Given the description of an element on the screen output the (x, y) to click on. 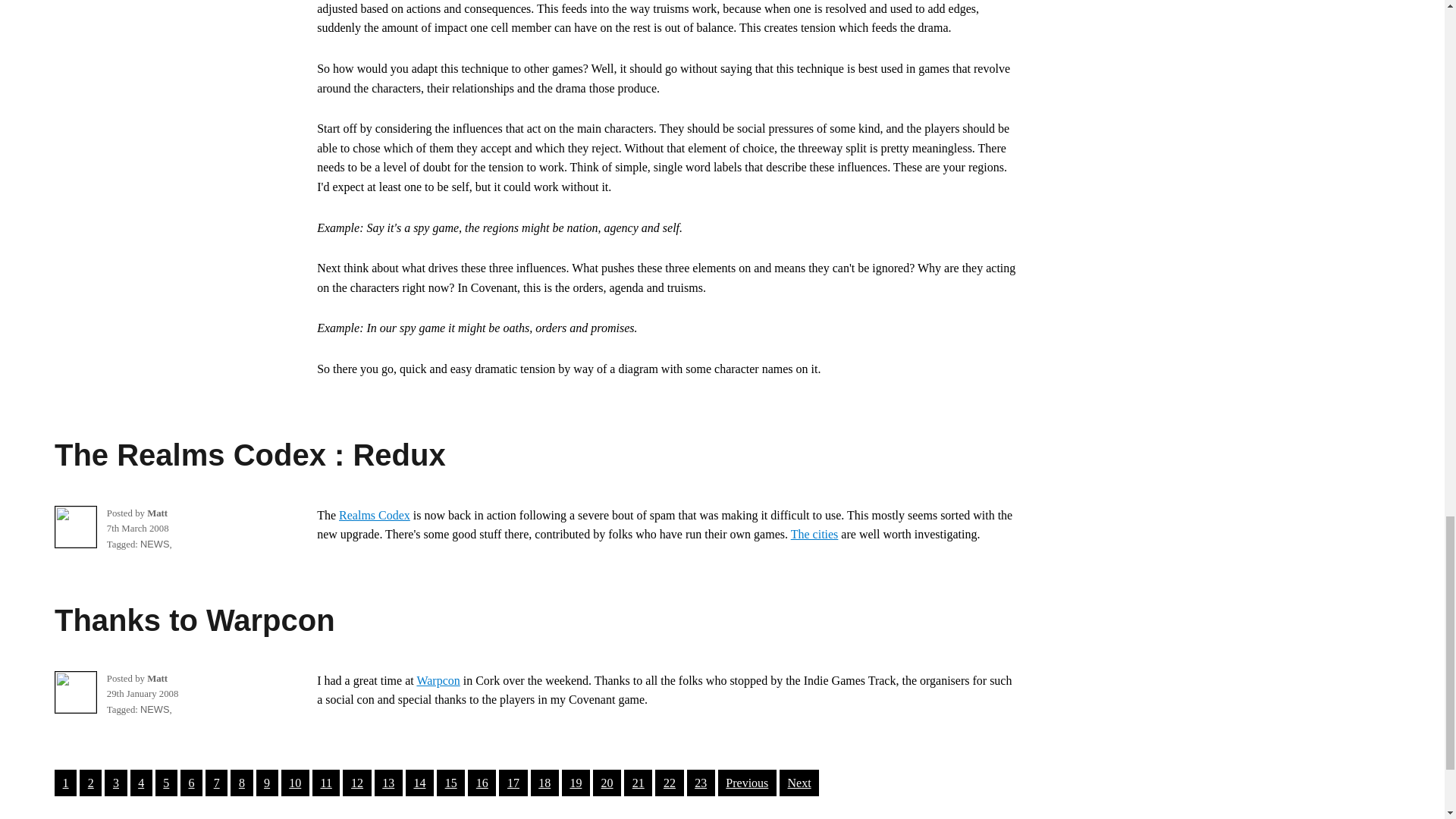
The Realms Codex : Redux (250, 454)
The cities (814, 533)
NEWS (153, 543)
Realms Codex (374, 514)
Thanks to Warpcon (194, 620)
NEWS (153, 708)
